Given the description of an element on the screen output the (x, y) to click on. 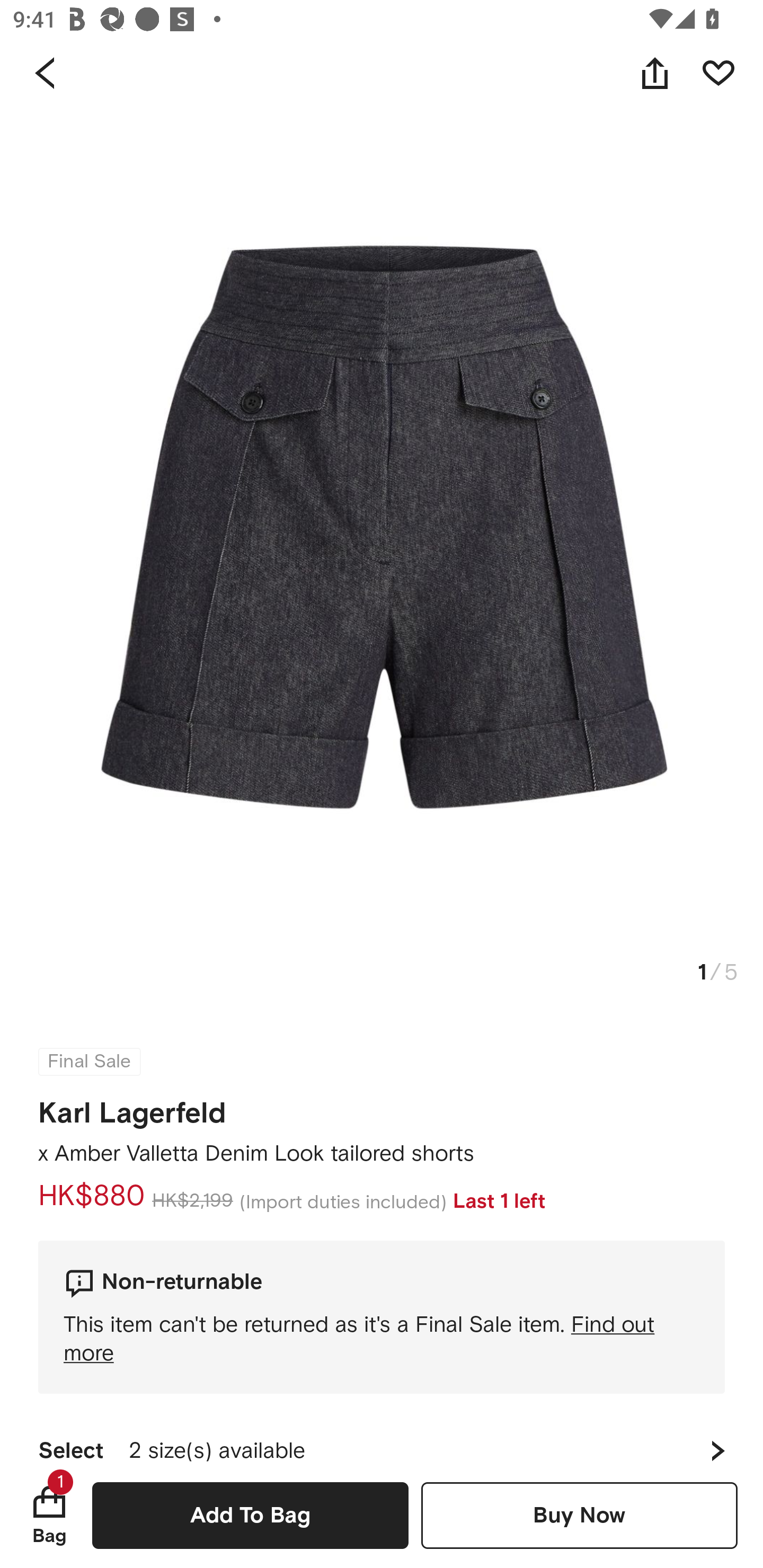
Karl Lagerfeld (132, 1107)
Select 2 size(s) available (381, 1437)
Bag 1 (49, 1515)
Add To Bag (250, 1515)
Buy Now (579, 1515)
